Given the description of an element on the screen output the (x, y) to click on. 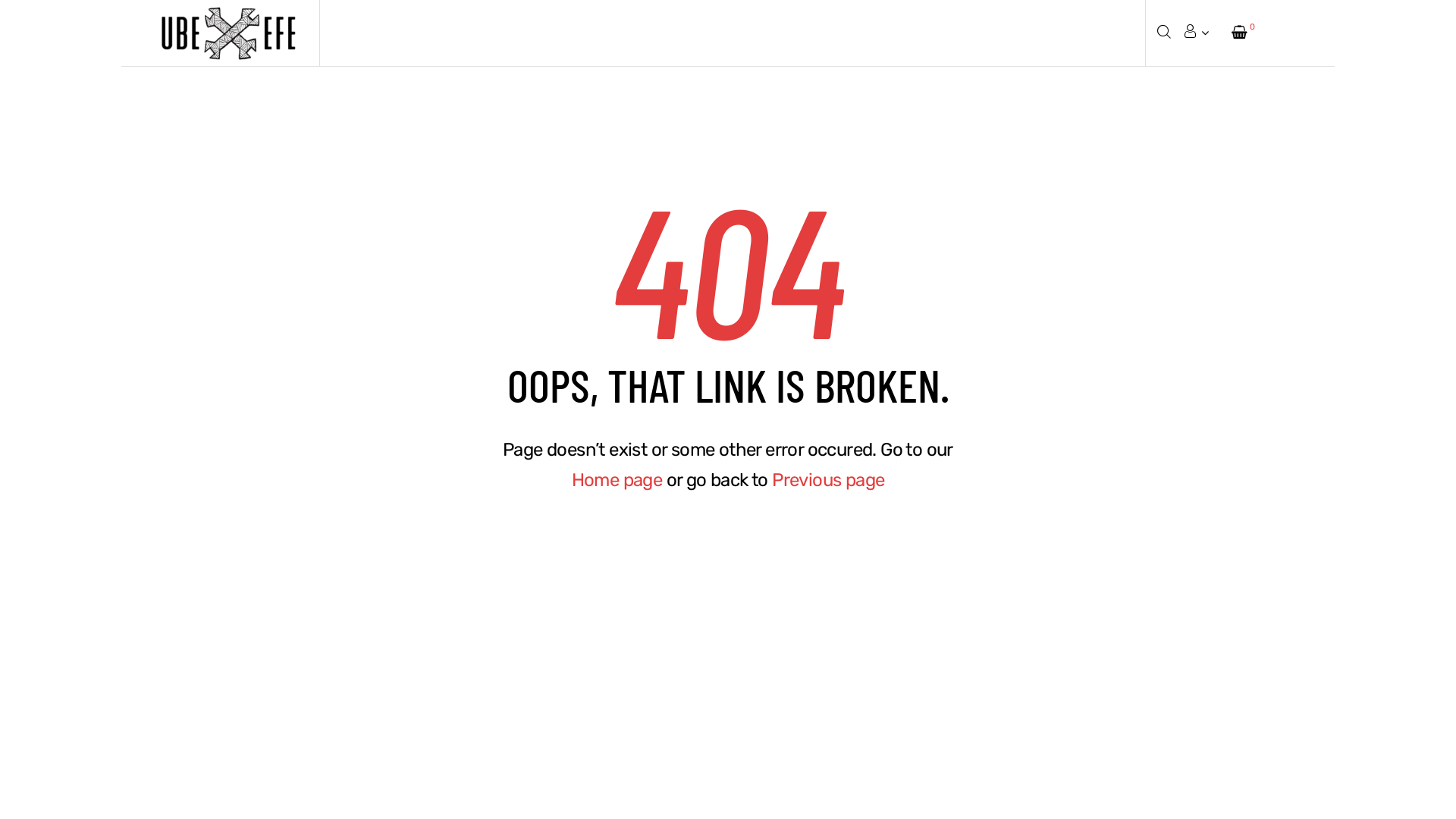
Home page Element type: text (616, 479)
Previous page Element type: text (827, 479)
0 Element type: text (1243, 32)
